Given the description of an element on the screen output the (x, y) to click on. 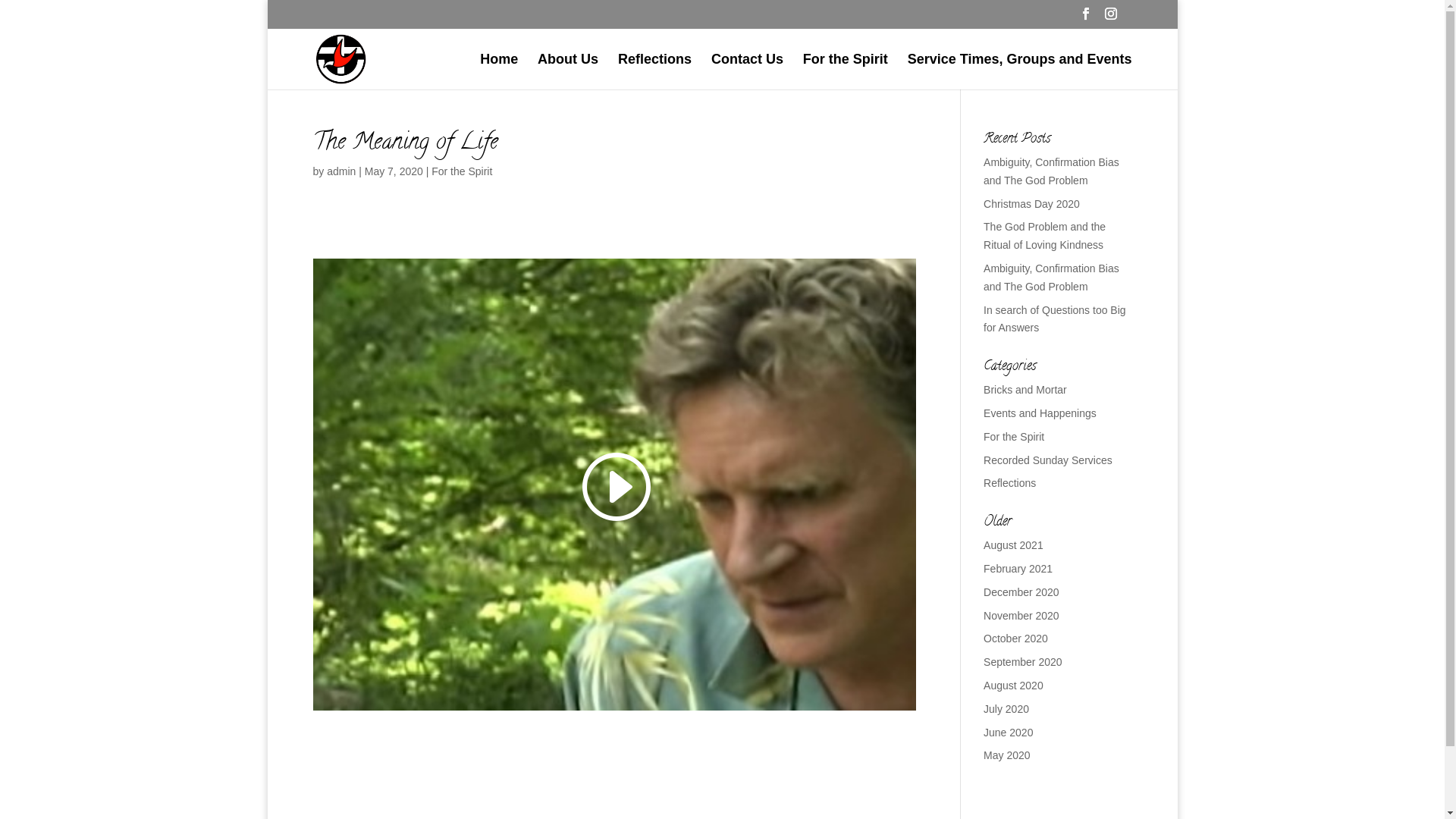
Events and Happenings Element type: text (1039, 413)
Reflections Element type: text (654, 70)
Reflections Element type: text (1009, 482)
August 2020 Element type: text (1013, 685)
Service Times, Groups and Events Element type: text (1019, 70)
Home Element type: text (498, 70)
For the Spirit Element type: text (845, 70)
February 2021 Element type: text (1017, 568)
Bricks and Mortar Element type: text (1024, 389)
The God Problem and the Ritual of Loving Kindness Element type: text (1044, 235)
Ambiguity, Confirmation Bias and The God Problem Element type: text (1051, 277)
September 2020 Element type: text (1022, 661)
Meaning of Life   short Element type: hover (613, 484)
For the Spirit Element type: text (1013, 436)
Christmas Day 2020 Element type: text (1031, 203)
October 2020 Element type: text (1015, 638)
November 2020 Element type: text (1021, 615)
December 2020 Element type: text (1021, 592)
For the Spirit Element type: text (461, 171)
June 2020 Element type: text (1007, 732)
August 2021 Element type: text (1013, 545)
Recorded Sunday Services Element type: text (1047, 460)
May 2020 Element type: text (1006, 755)
In search of Questions too Big for Answers Element type: text (1054, 319)
July 2020 Element type: text (1006, 708)
Ambiguity, Confirmation Bias and The God Problem Element type: text (1051, 171)
Contact Us Element type: text (747, 70)
About Us Element type: text (567, 70)
admin Element type: text (340, 171)
